Given the description of an element on the screen output the (x, y) to click on. 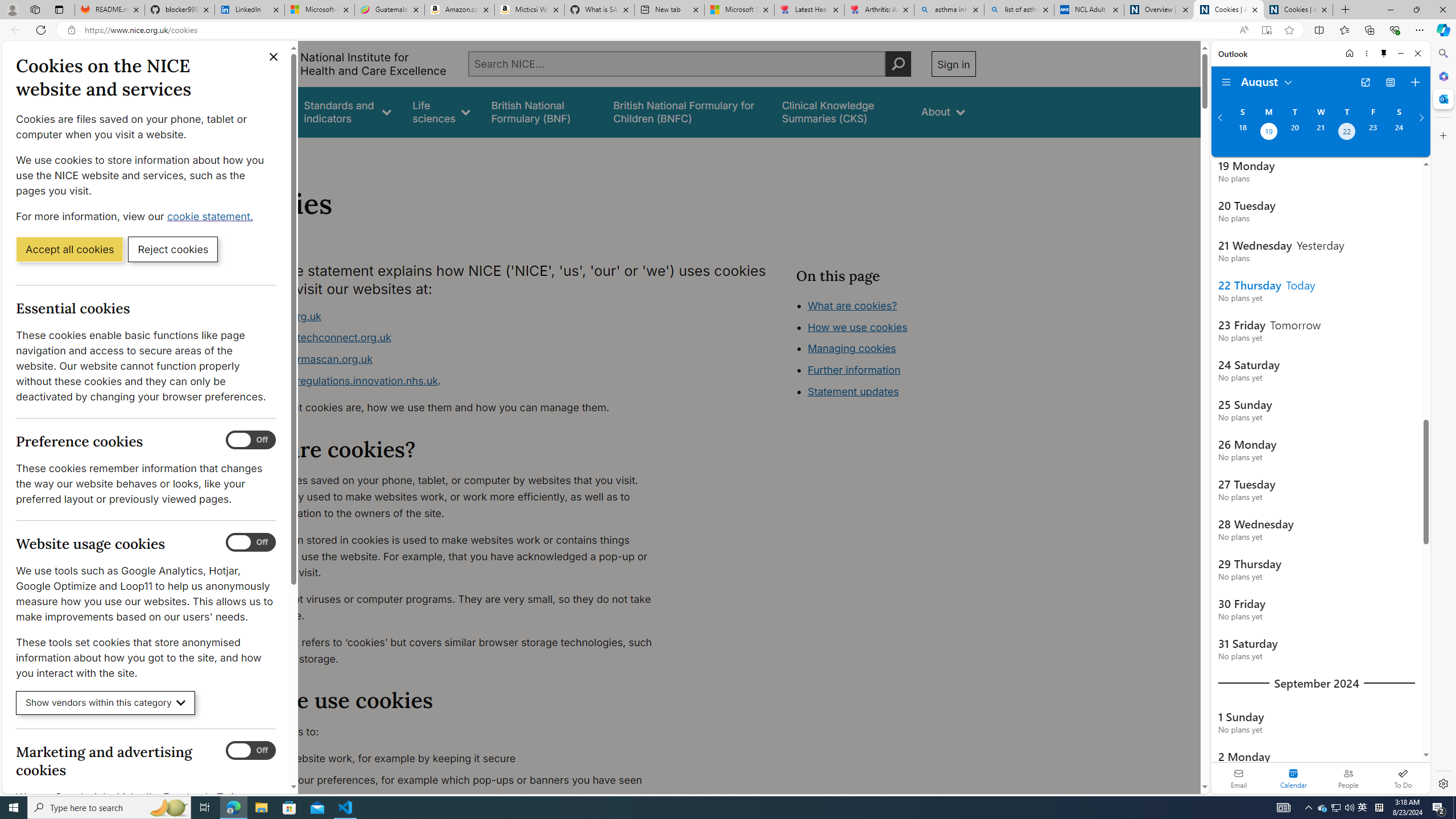
Unpin side pane (1383, 53)
Guidance (260, 111)
cookie statement. (Opens in a new window) (211, 215)
www.nice.org.uk (279, 315)
How we use cookies (896, 389)
Guidance (260, 111)
